Given the description of an element on the screen output the (x, y) to click on. 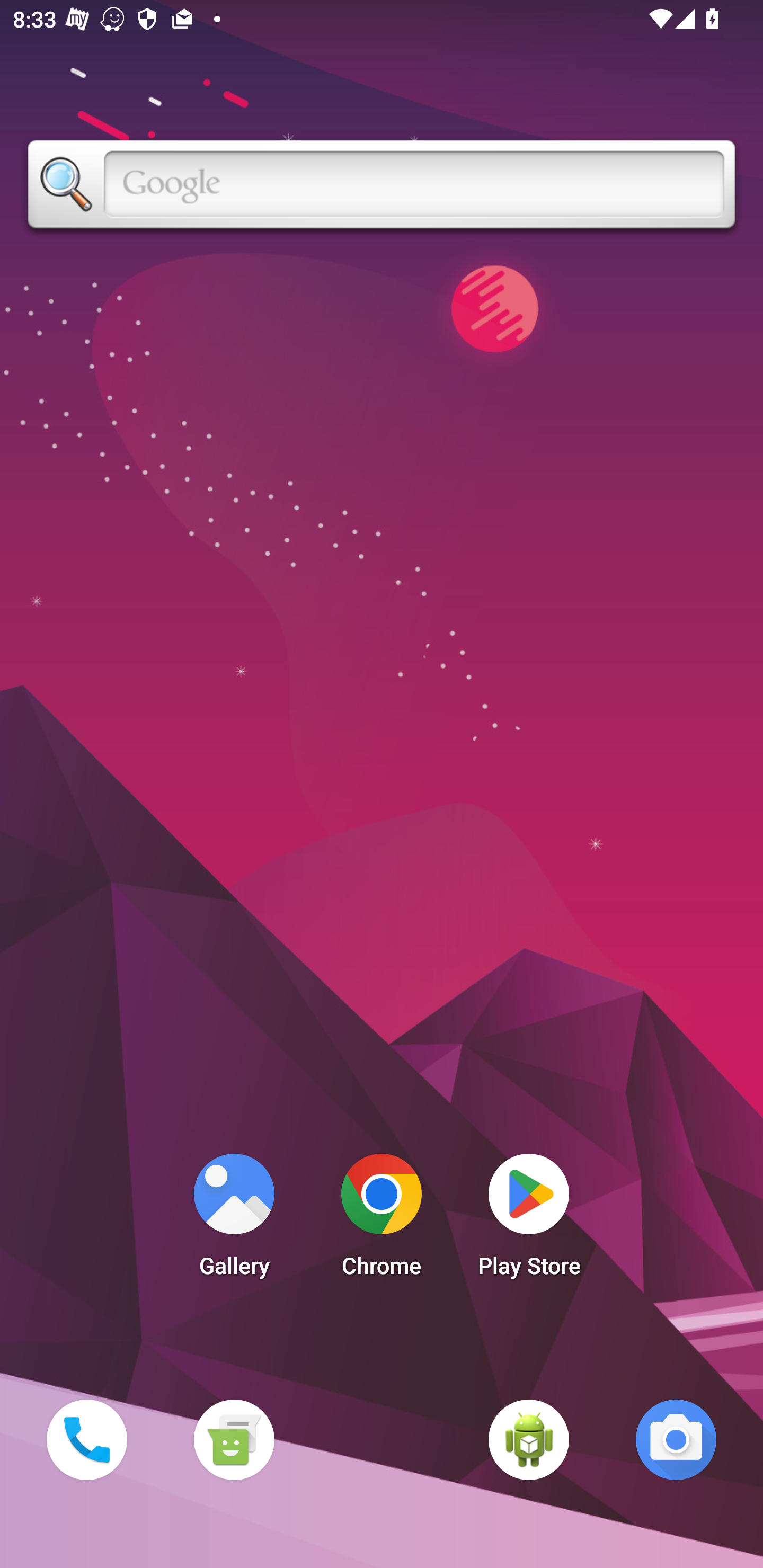
Gallery (233, 1220)
Chrome (381, 1220)
Play Store (528, 1220)
Phone (86, 1439)
Messaging (233, 1439)
WebView Browser Tester (528, 1439)
Camera (676, 1439)
